Given the description of an element on the screen output the (x, y) to click on. 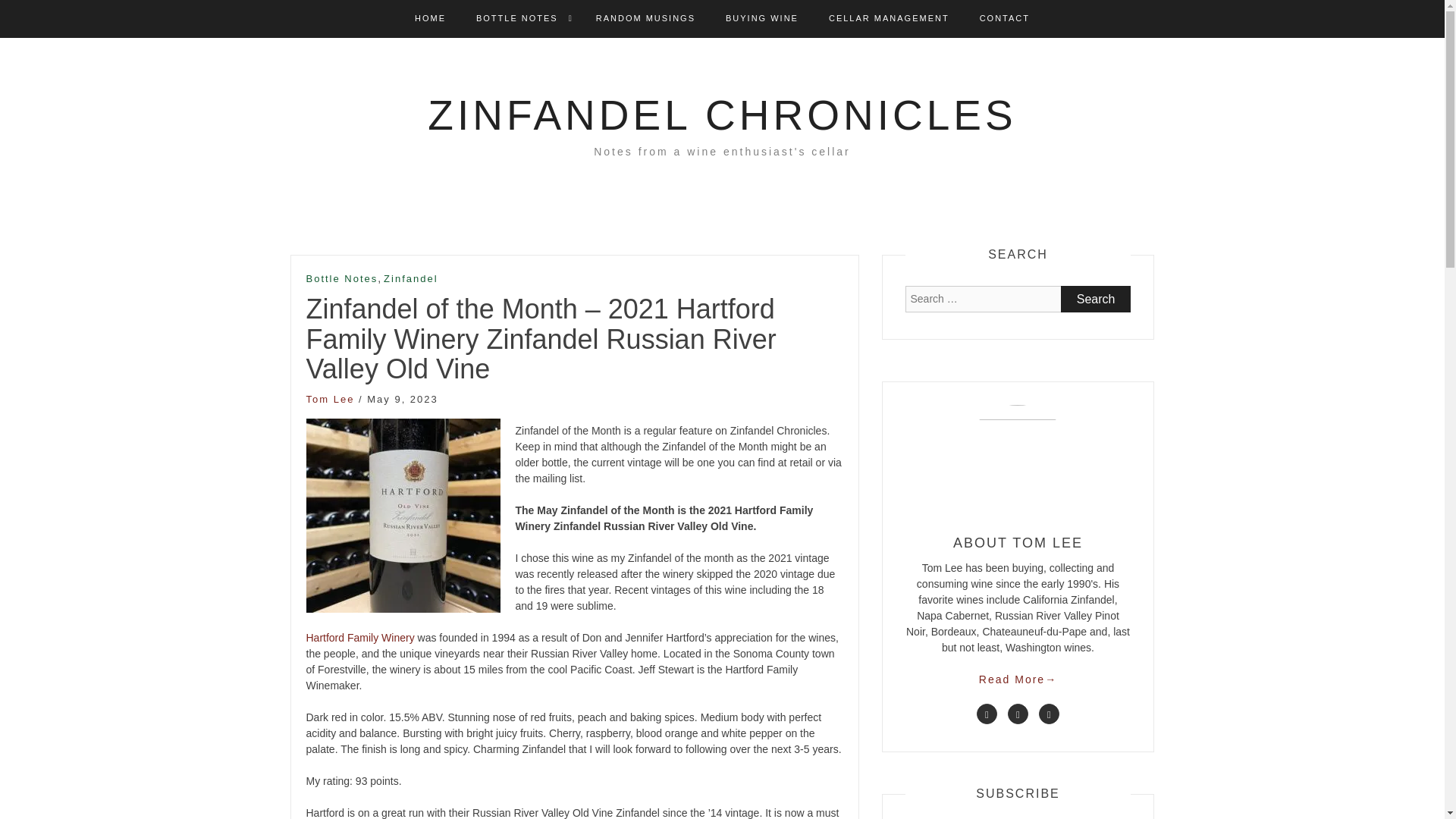
BOTTLE NOTES (516, 18)
ZINFANDEL CHRONICLES (722, 114)
RANDOM MUSINGS (645, 18)
twitter (986, 713)
Search (1096, 298)
Hartford Family Winery (359, 637)
Zinfandel (411, 278)
Bottle Notes (341, 278)
Tom Lee (330, 398)
Search (1096, 298)
CELLAR MANAGEMENT (888, 18)
BUYING WINE (761, 18)
instagram (1049, 713)
CONTACT (1004, 18)
linkedin (1017, 713)
